Given the description of an element on the screen output the (x, y) to click on. 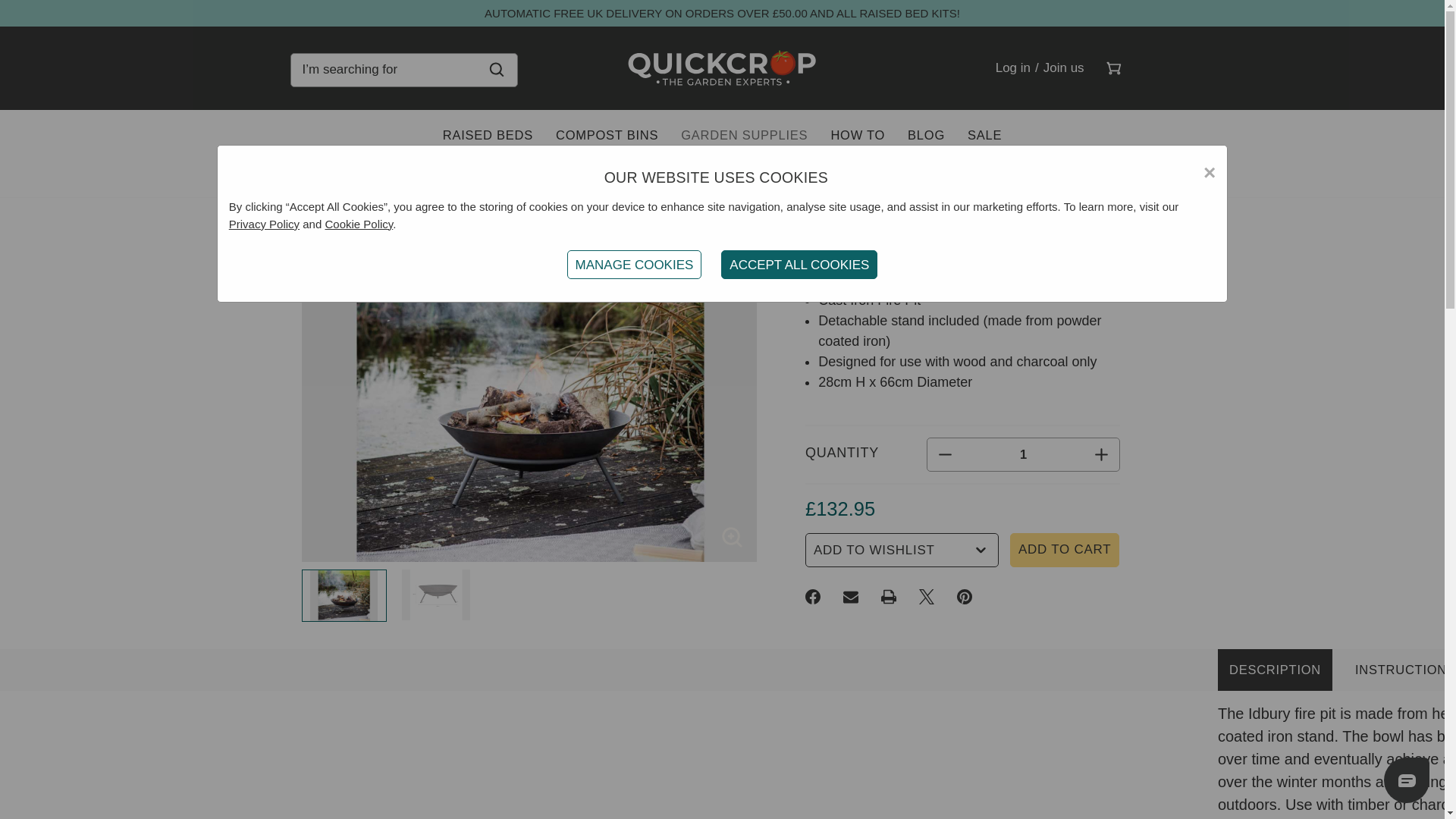
Pinterest (964, 596)
RAISED BEDS (487, 135)
Quickcrop UK (721, 67)
1 (1023, 454)
Join us (1062, 67)
Twitter (926, 596)
Add to Cart (1064, 550)
Email (851, 596)
COMPOST BINS (606, 135)
Idbury powder coated fire pit (343, 595)
Idbury heavy duty fire pit (434, 594)
Print (888, 596)
Facebook (813, 596)
GARDEN SUPPLIES (743, 135)
